Given the description of an element on the screen output the (x, y) to click on. 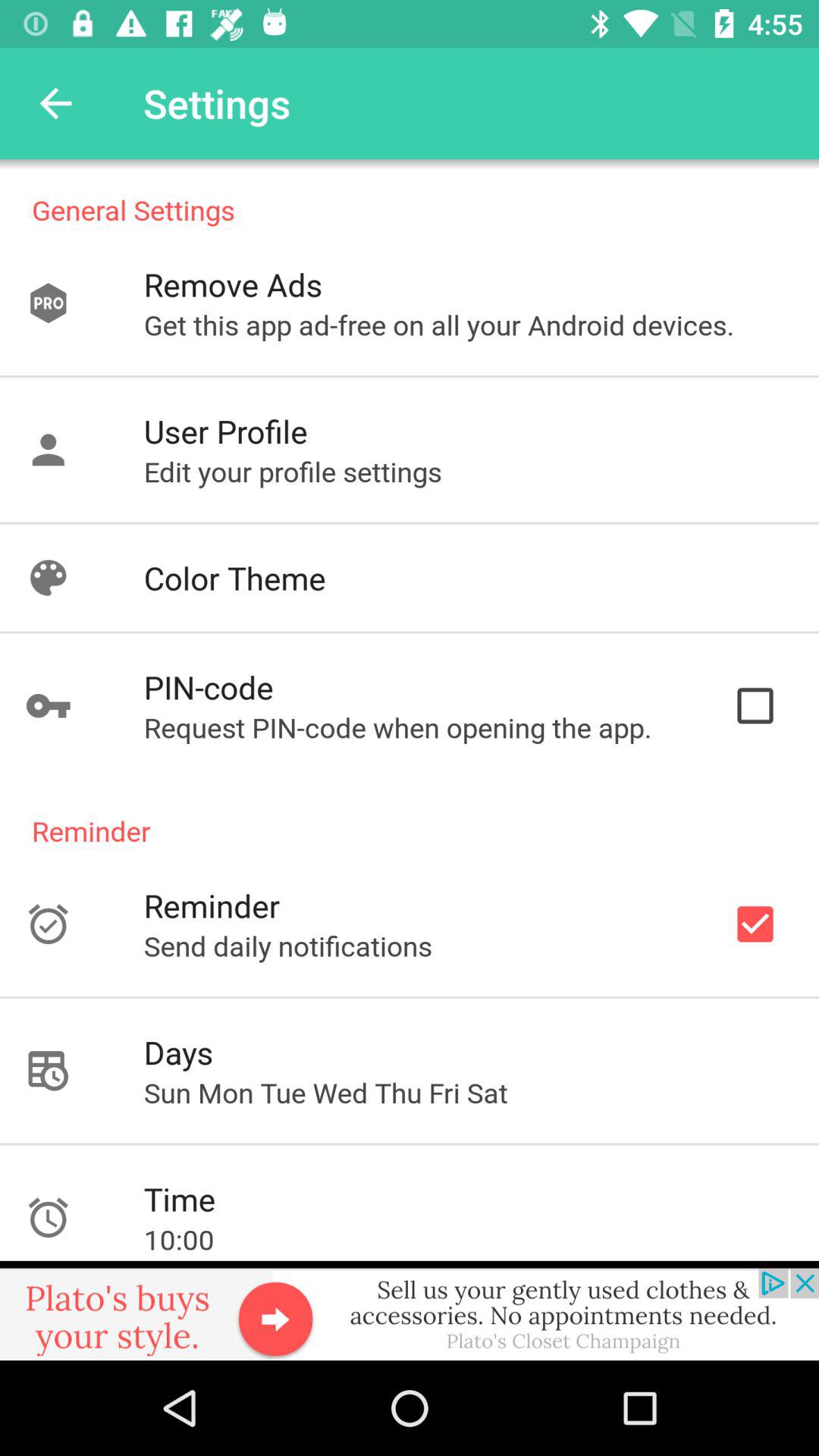
add option (409, 1310)
